Given the description of an element on the screen output the (x, y) to click on. 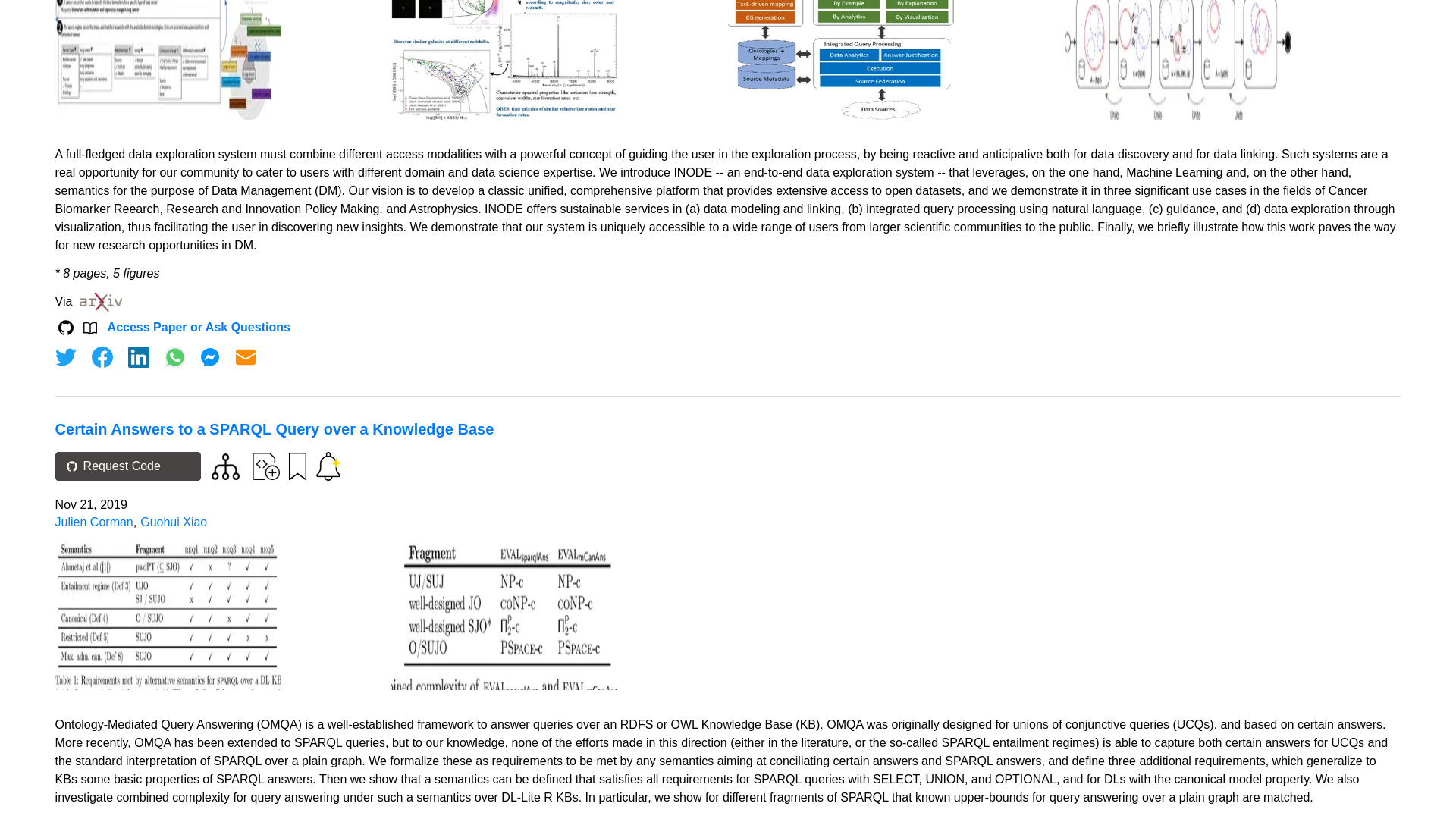
Share via Email (245, 356)
View code for similar papers (225, 466)
Contribute your code for this paper to the community (265, 465)
